Given the description of an element on the screen output the (x, y) to click on. 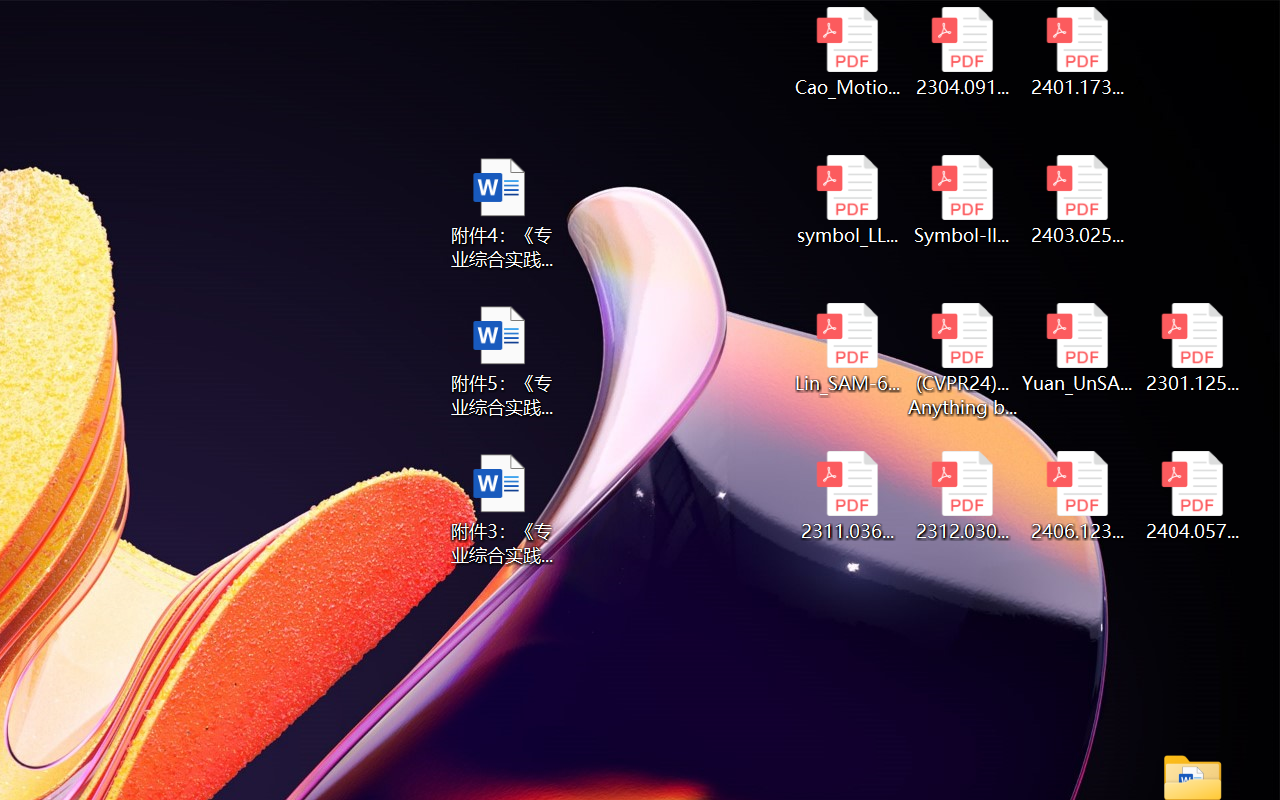
2404.05719v1.pdf (1192, 496)
2401.17399v1.pdf (1077, 52)
2304.09121v3.pdf (962, 52)
Symbol-llm-v2.pdf (962, 200)
2311.03658v2.pdf (846, 496)
2406.12373v2.pdf (1077, 496)
2301.12597v3.pdf (1192, 348)
2403.02502v1.pdf (1077, 200)
2312.03032v2.pdf (962, 496)
(CVPR24)Matching Anything by Segmenting Anything.pdf (962, 360)
